Given the description of an element on the screen output the (x, y) to click on. 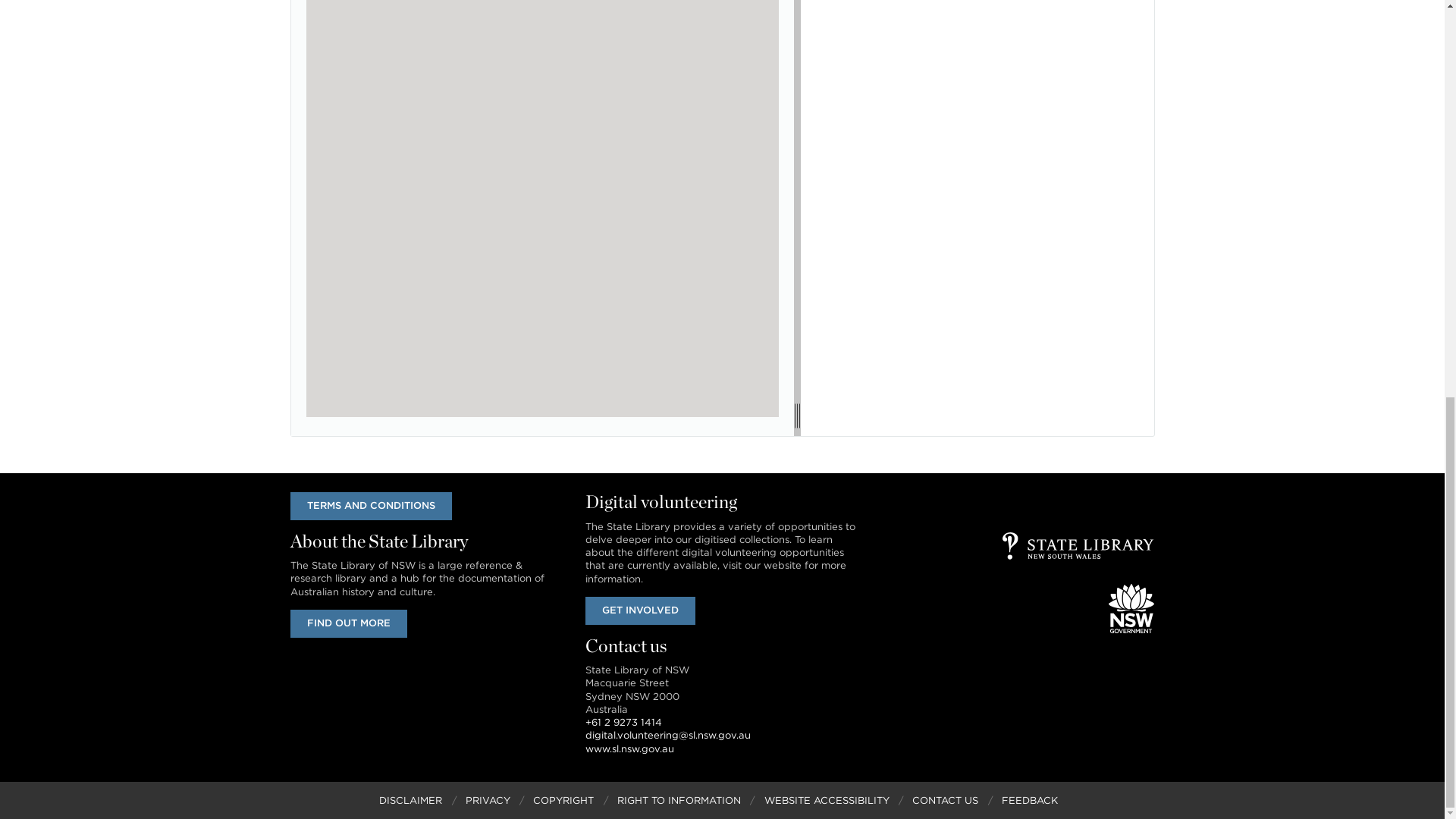
State Library of NSW (1078, 546)
NSW Government (1131, 608)
